Given the description of an element on the screen output the (x, y) to click on. 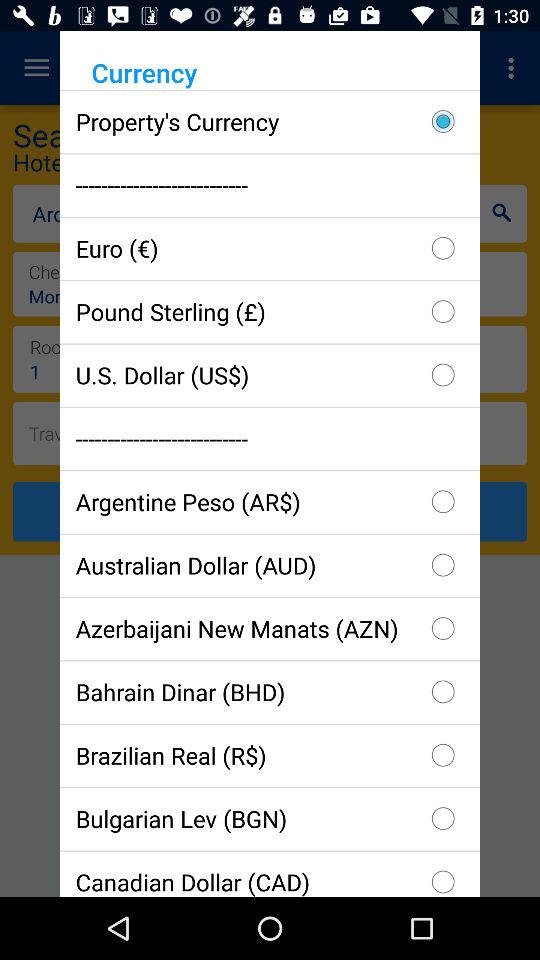
launch --------------------------- checkbox (270, 184)
